Given the description of an element on the screen output the (x, y) to click on. 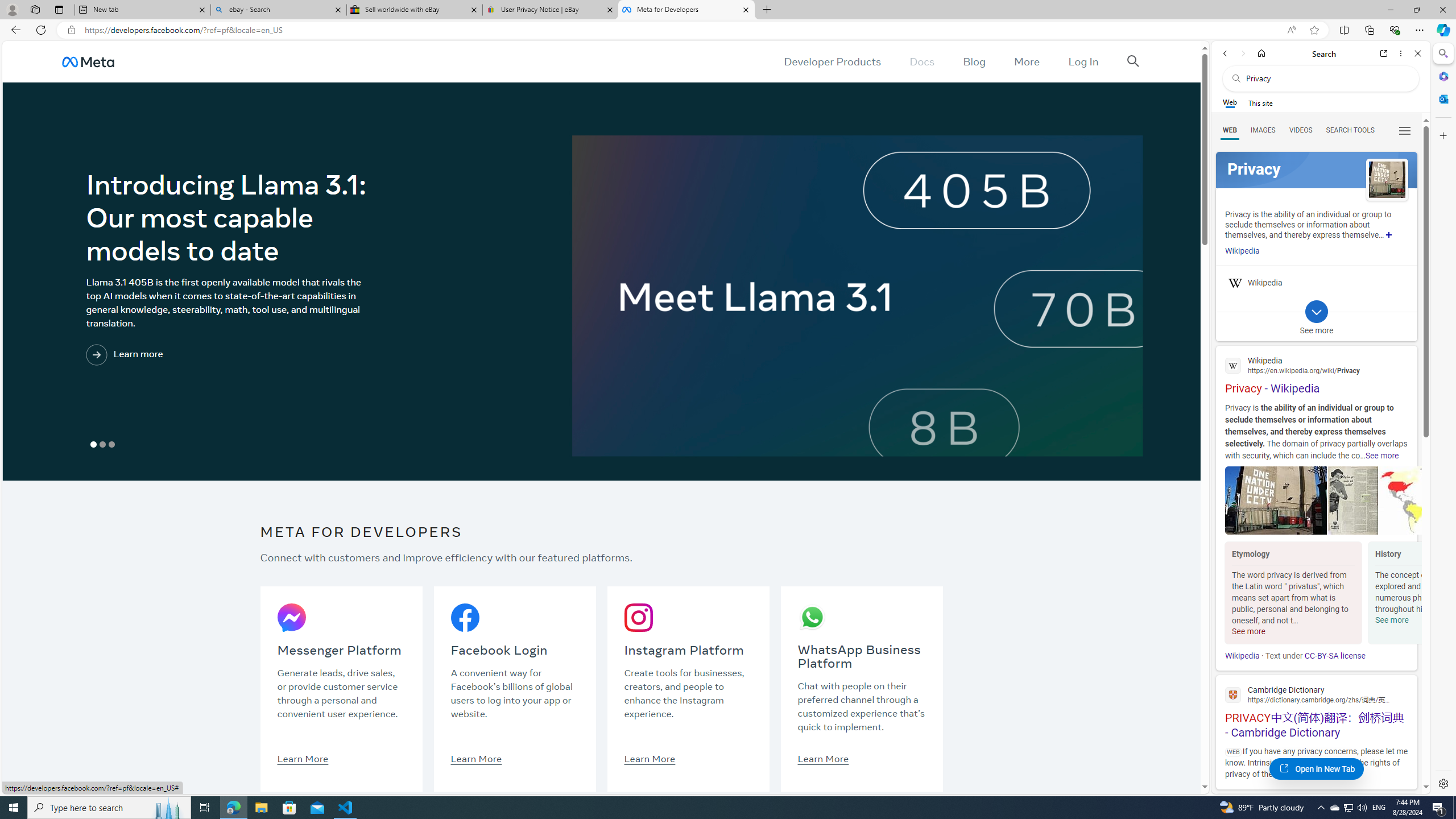
Docs (922, 61)
Wikipedia (1241, 655)
Meta for Developers (685, 9)
Class: spl_logobg (1315, 169)
Show more (1388, 234)
Global web icon (1232, 694)
Search Filter, IMAGES (1262, 129)
Web scope (1230, 102)
